Given the description of an element on the screen output the (x, y) to click on. 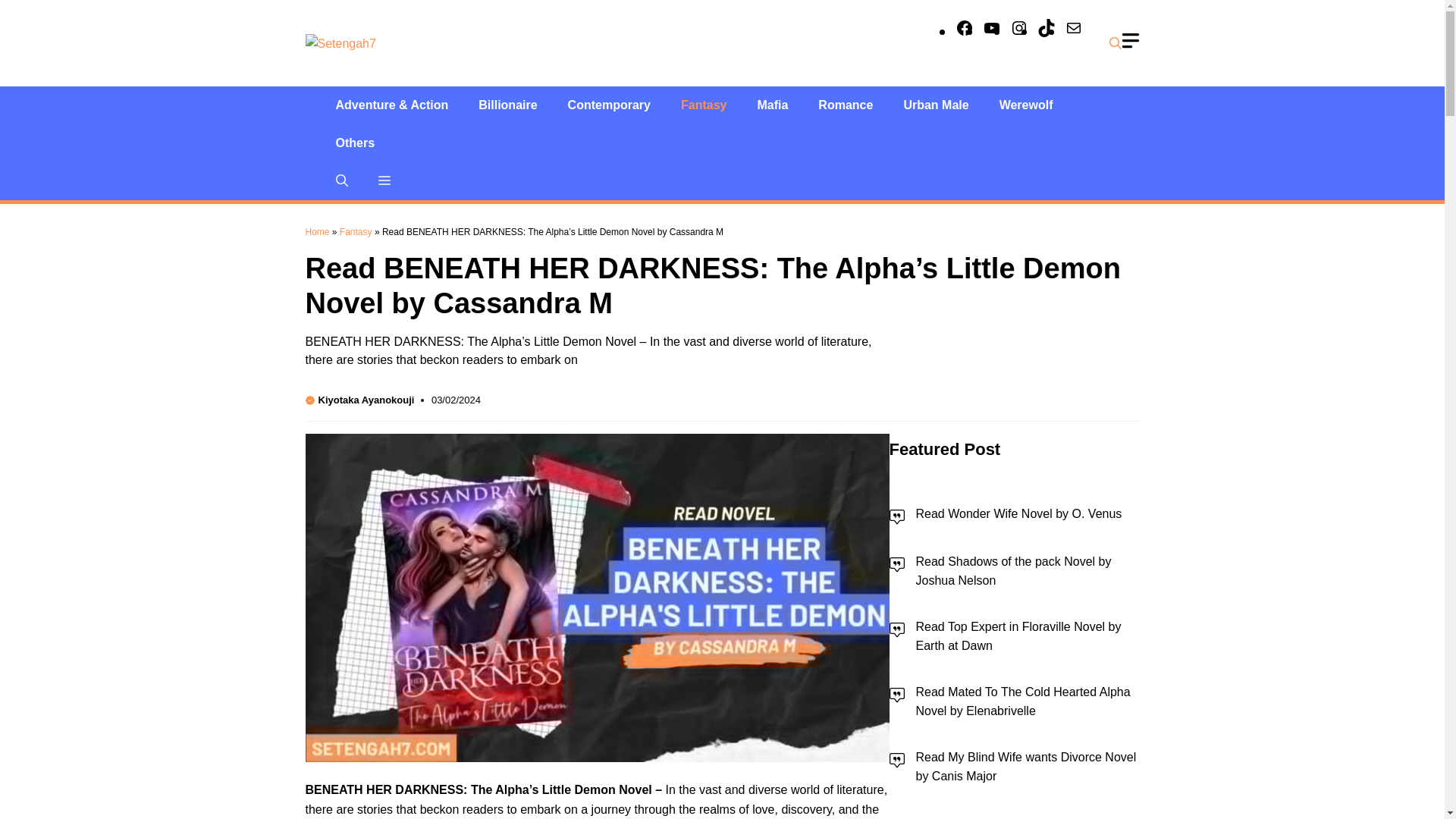
Others (355, 143)
Contemporary (609, 105)
Instagram (1018, 30)
Urban Male (936, 105)
Mafia (772, 105)
Kiyotaka Ayanokouji (366, 399)
TikTok (1045, 30)
Mail (1073, 30)
Romance (845, 105)
Billionaire (507, 105)
Fantasy (355, 231)
Home (316, 231)
Fantasy (703, 105)
Facebook (964, 30)
Werewolf (1026, 105)
